Given the description of an element on the screen output the (x, y) to click on. 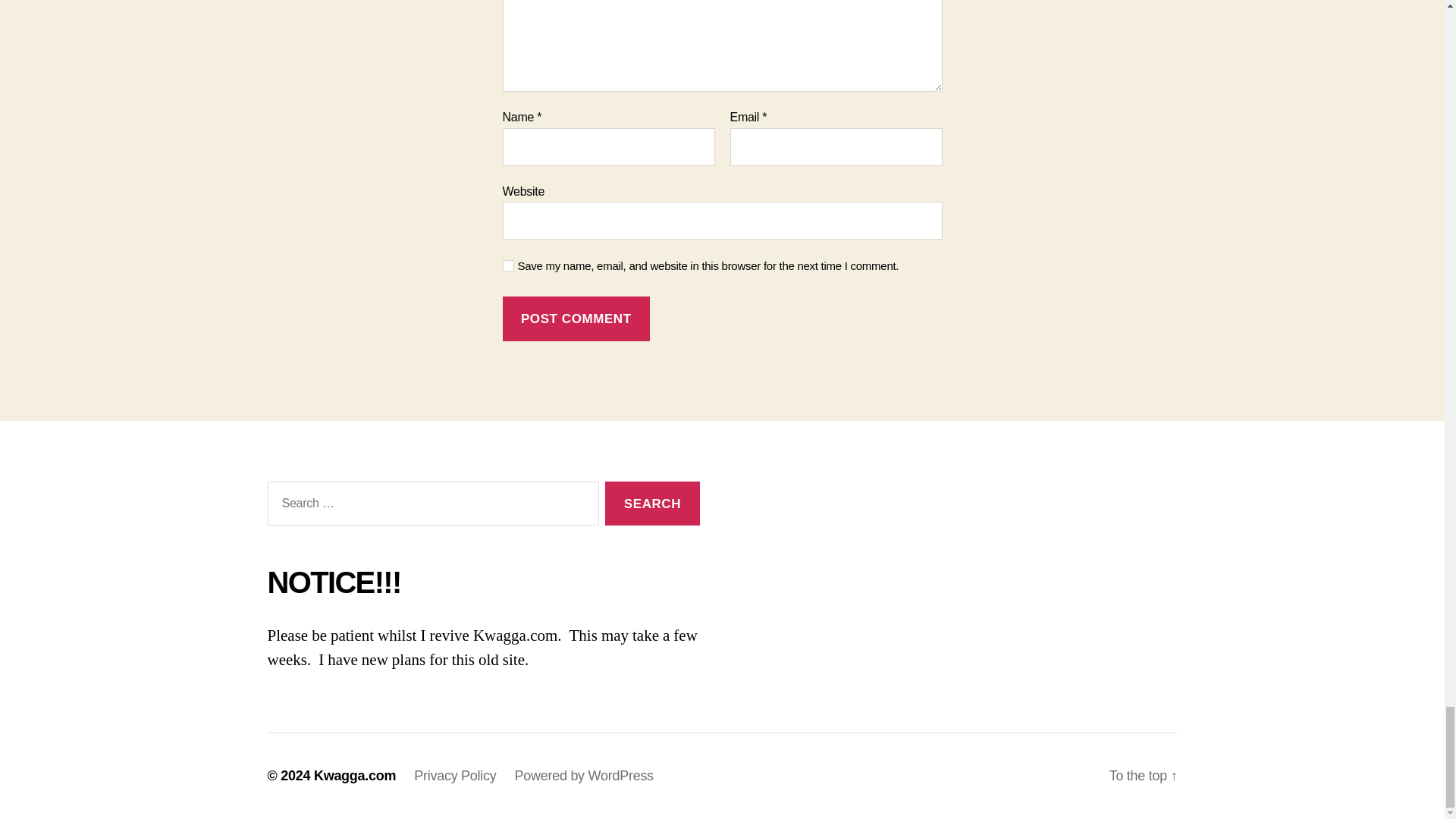
Post Comment (575, 318)
Search (651, 503)
yes (507, 265)
Search (651, 503)
